Given the description of an element on the screen output the (x, y) to click on. 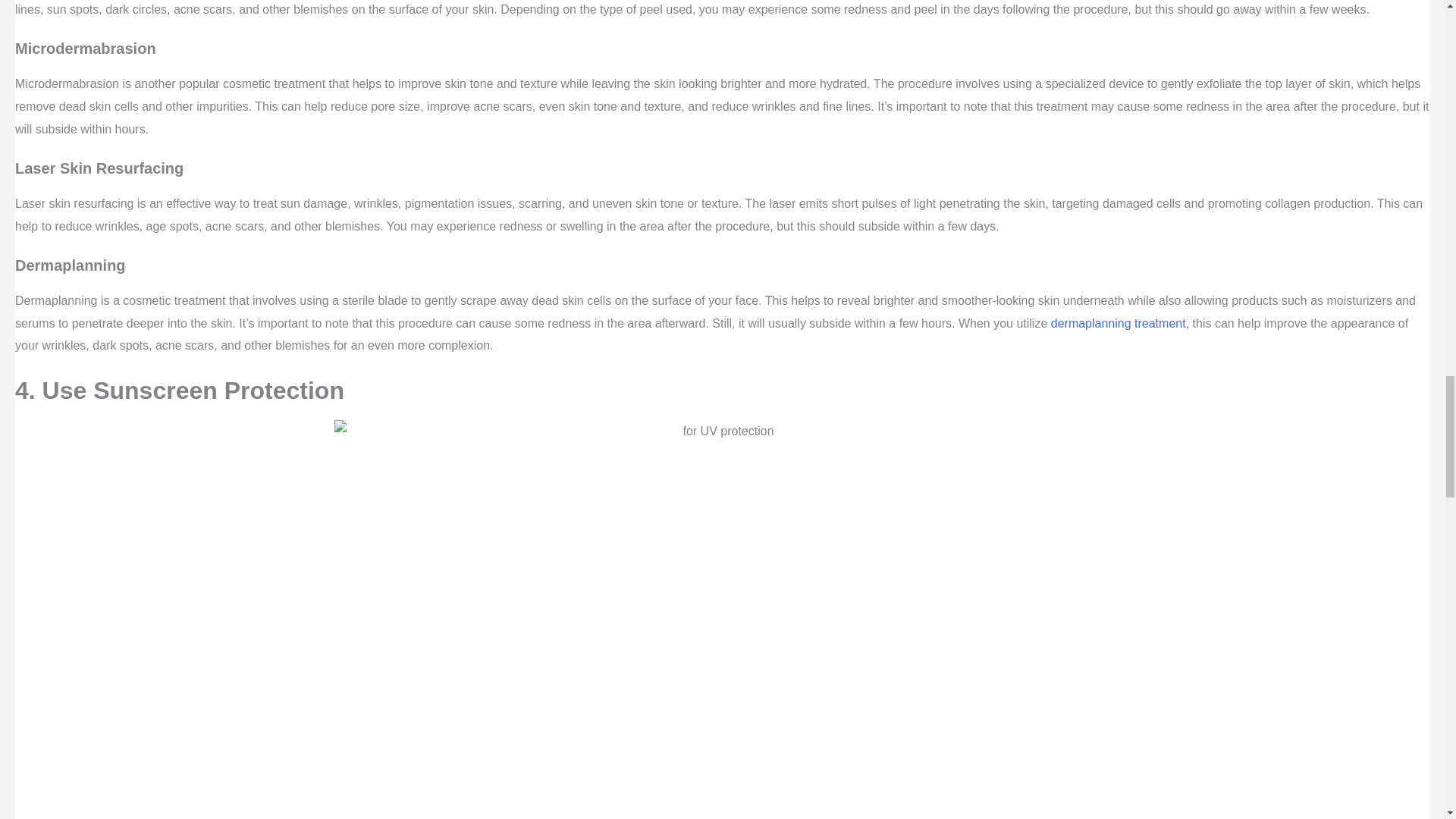
dermaplanning treatment (1118, 323)
